Given the description of an element on the screen output the (x, y) to click on. 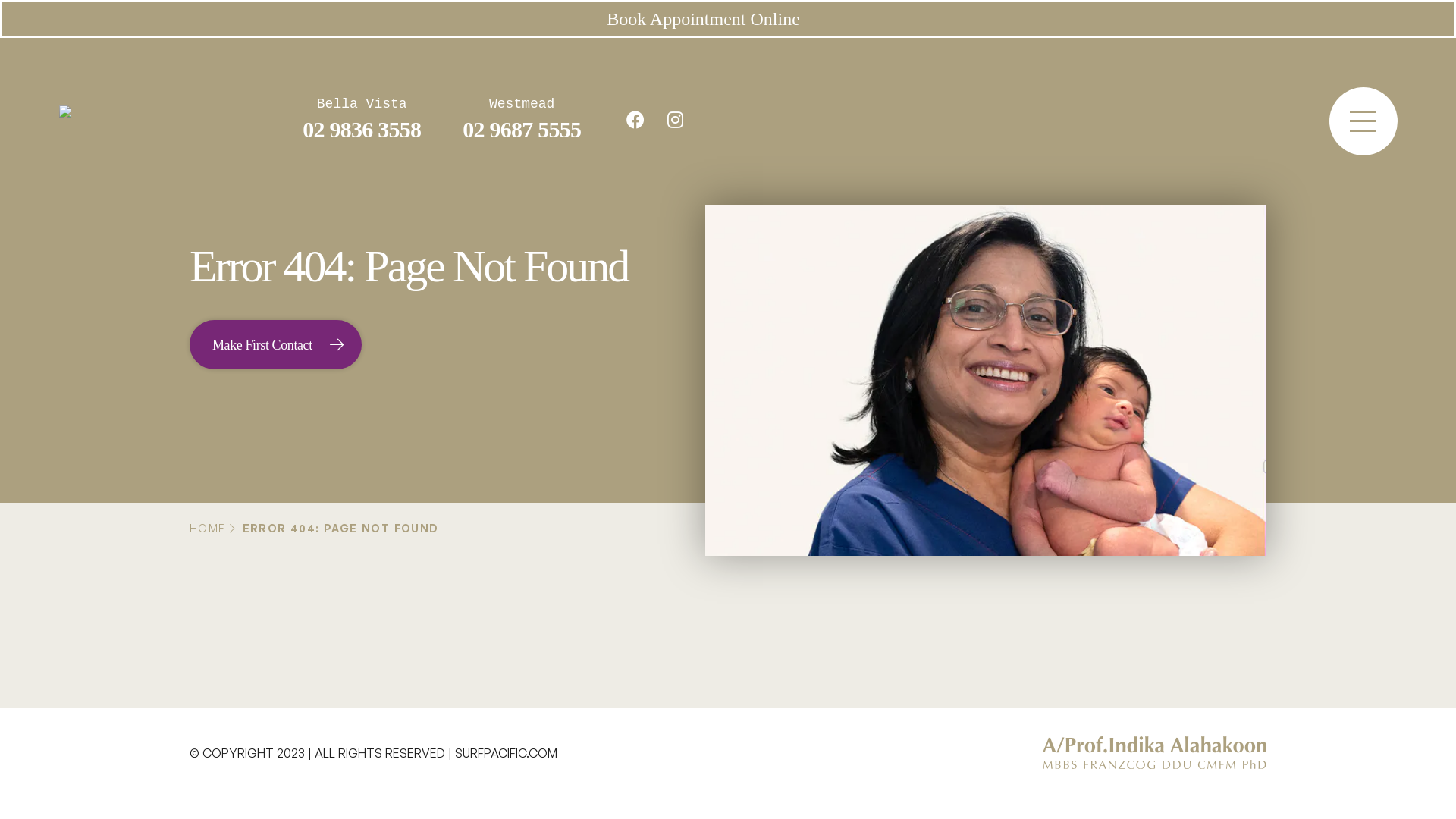
02 9836 3558 Element type: text (361, 129)
HOME Element type: text (207, 527)
02 9687 5555 Element type: text (521, 129)
Make First Contact Element type: text (275, 344)
